Given the description of an element on the screen output the (x, y) to click on. 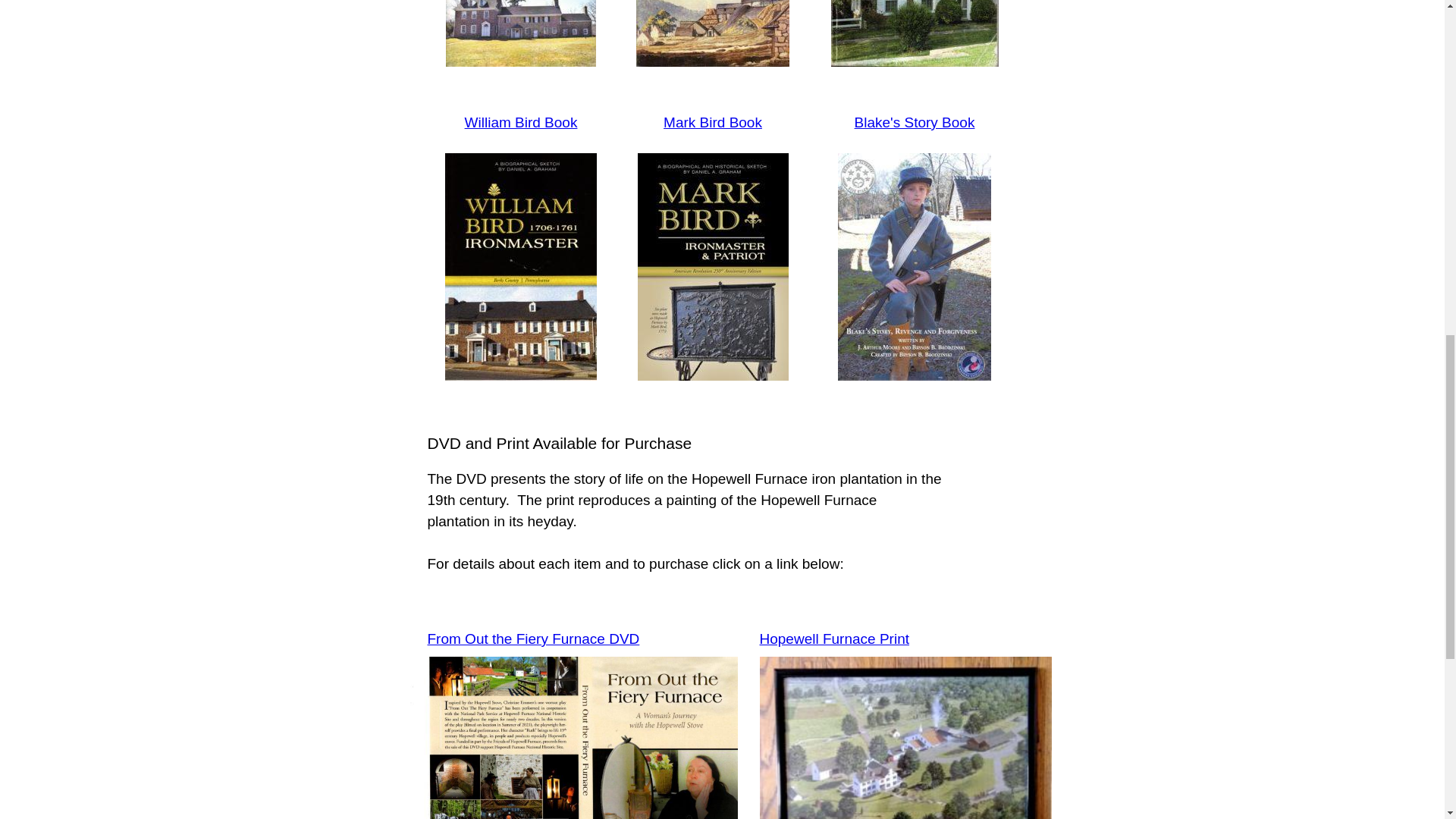
Hopewell Furnace Print (834, 638)
William Bird Book (521, 122)
From Out the Fiery Furnace DVD (534, 638)
Blake's Story Book (914, 122)
Mark Bird Book (712, 122)
